Given the description of an element on the screen output the (x, y) to click on. 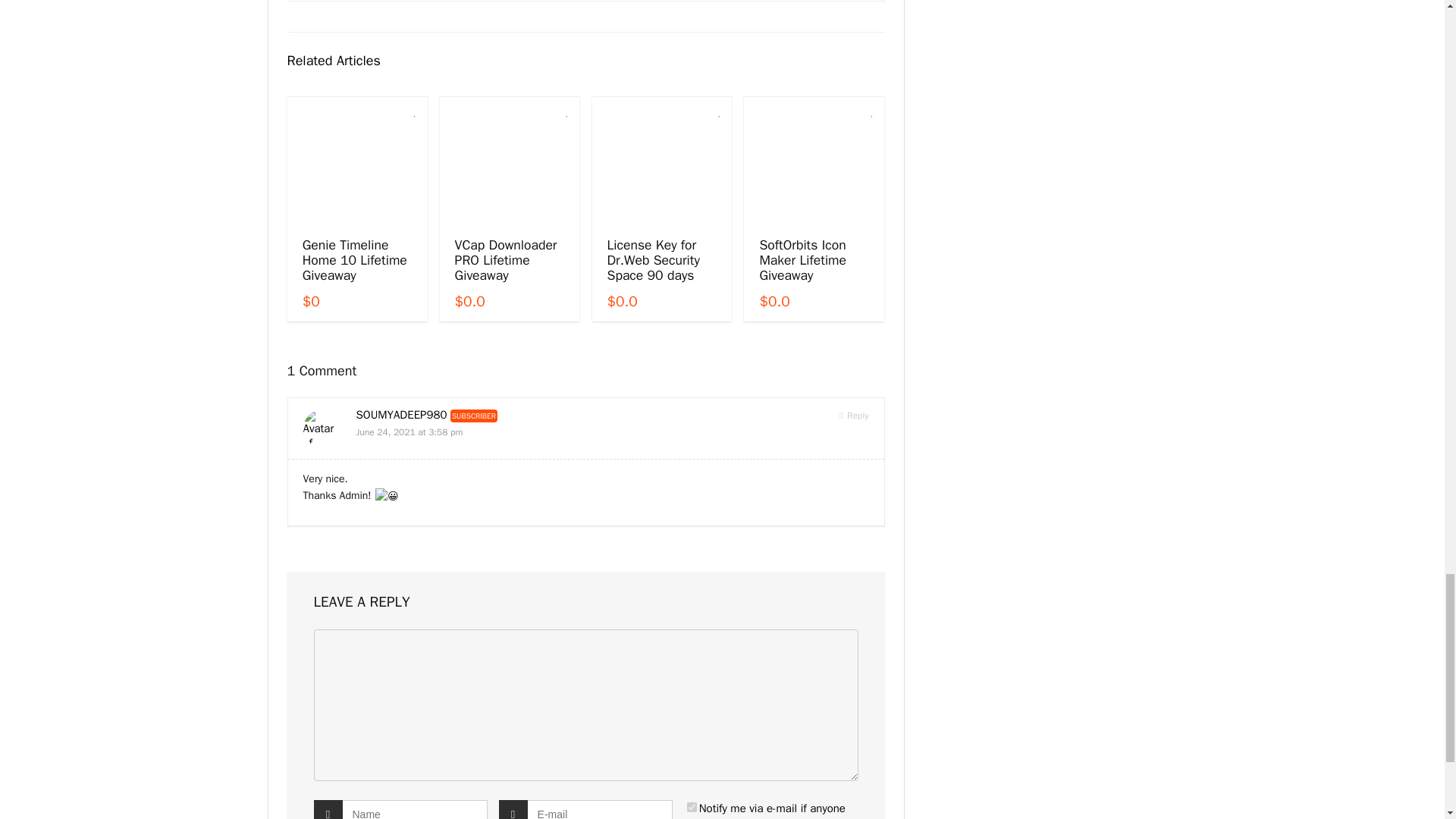
Genie Timeline Home 10 Lifetime Giveaway (354, 259)
on (692, 807)
